Given the description of an element on the screen output the (x, y) to click on. 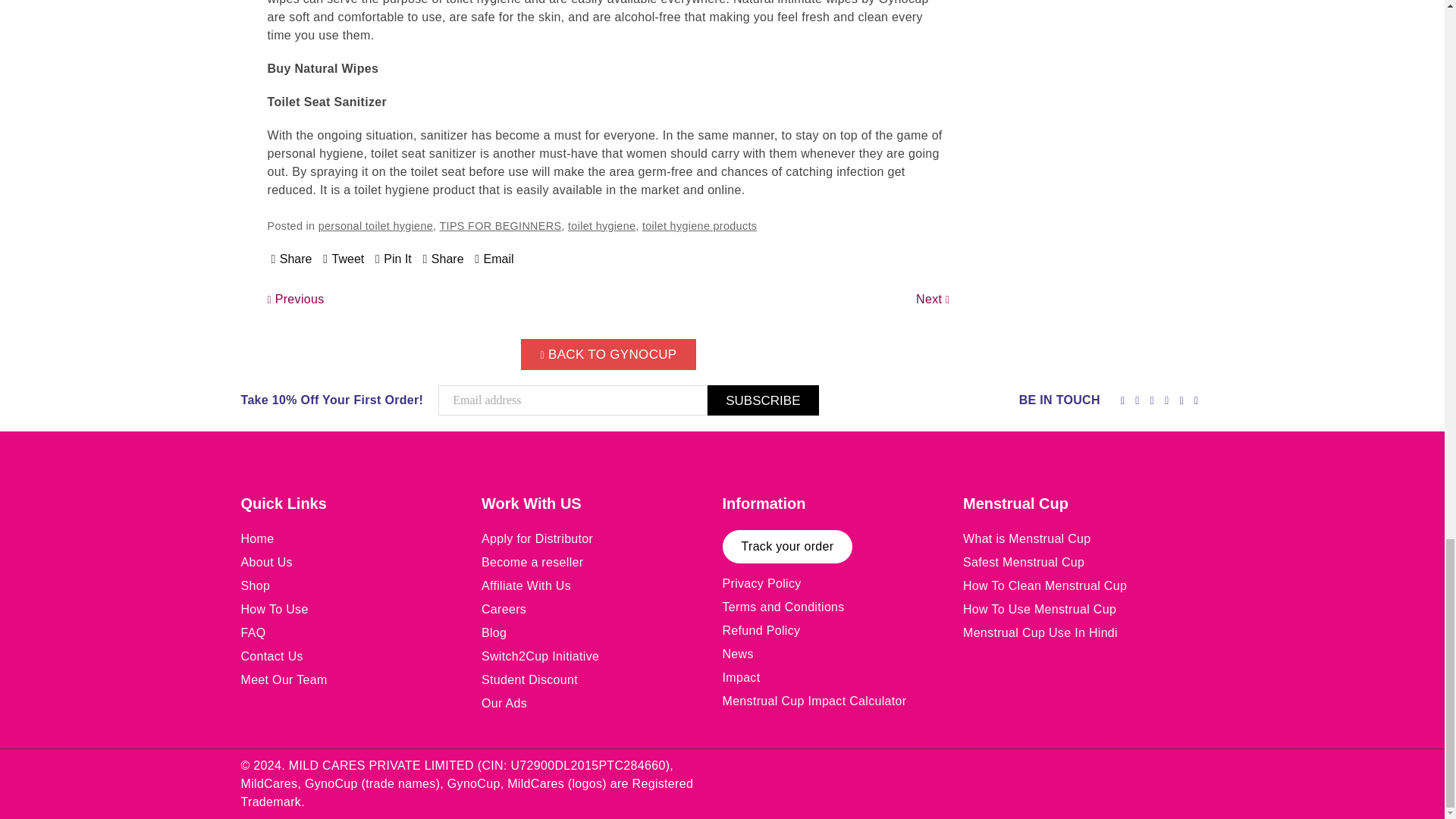
Share on Linked In (443, 258)
Pin on Pinterest (393, 258)
Tweet on Twitter (343, 258)
Share by Email (493, 258)
Share on Facebook (291, 258)
